Given the description of an element on the screen output the (x, y) to click on. 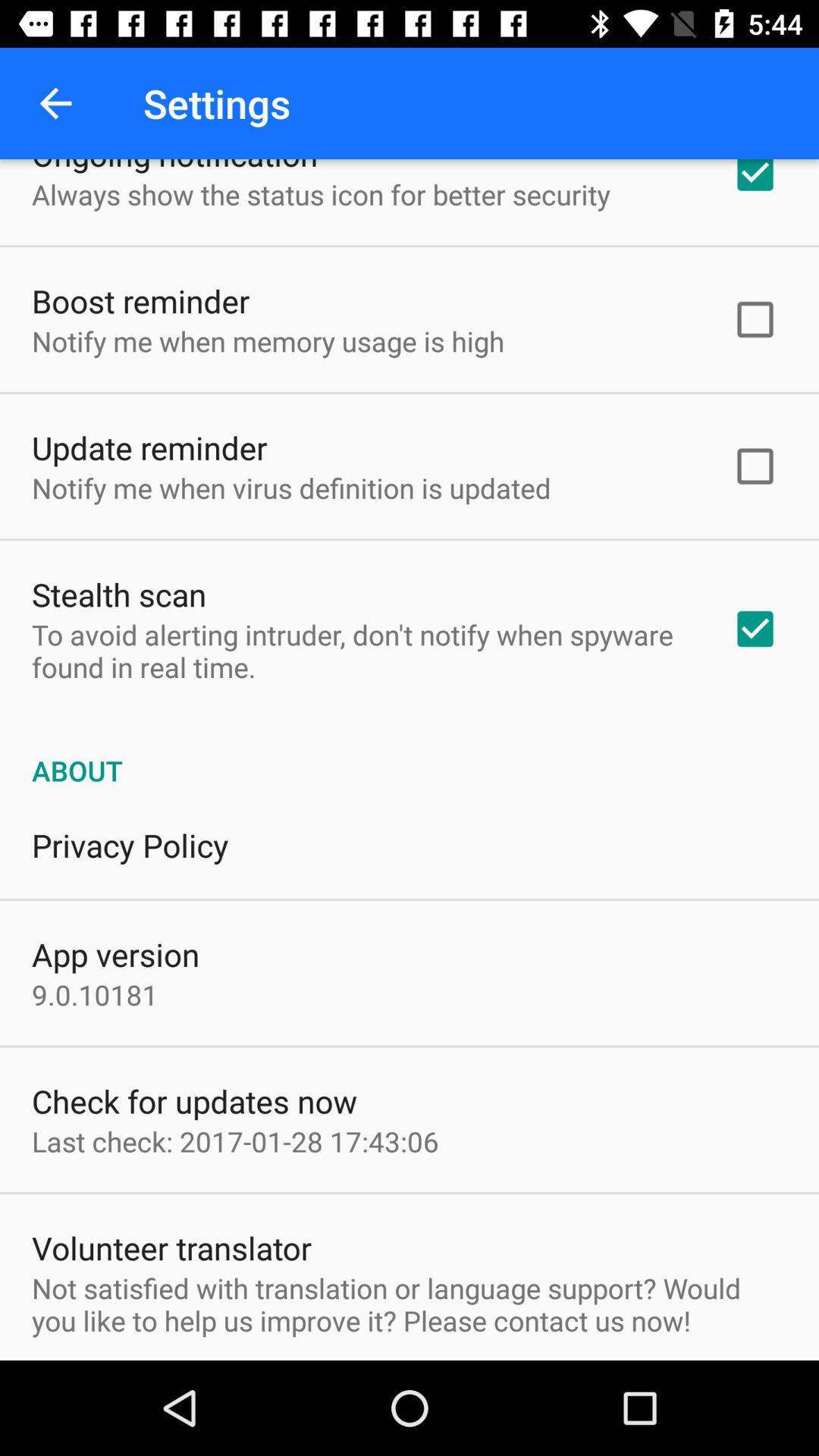
select item above notify me when icon (149, 447)
